Given the description of an element on the screen output the (x, y) to click on. 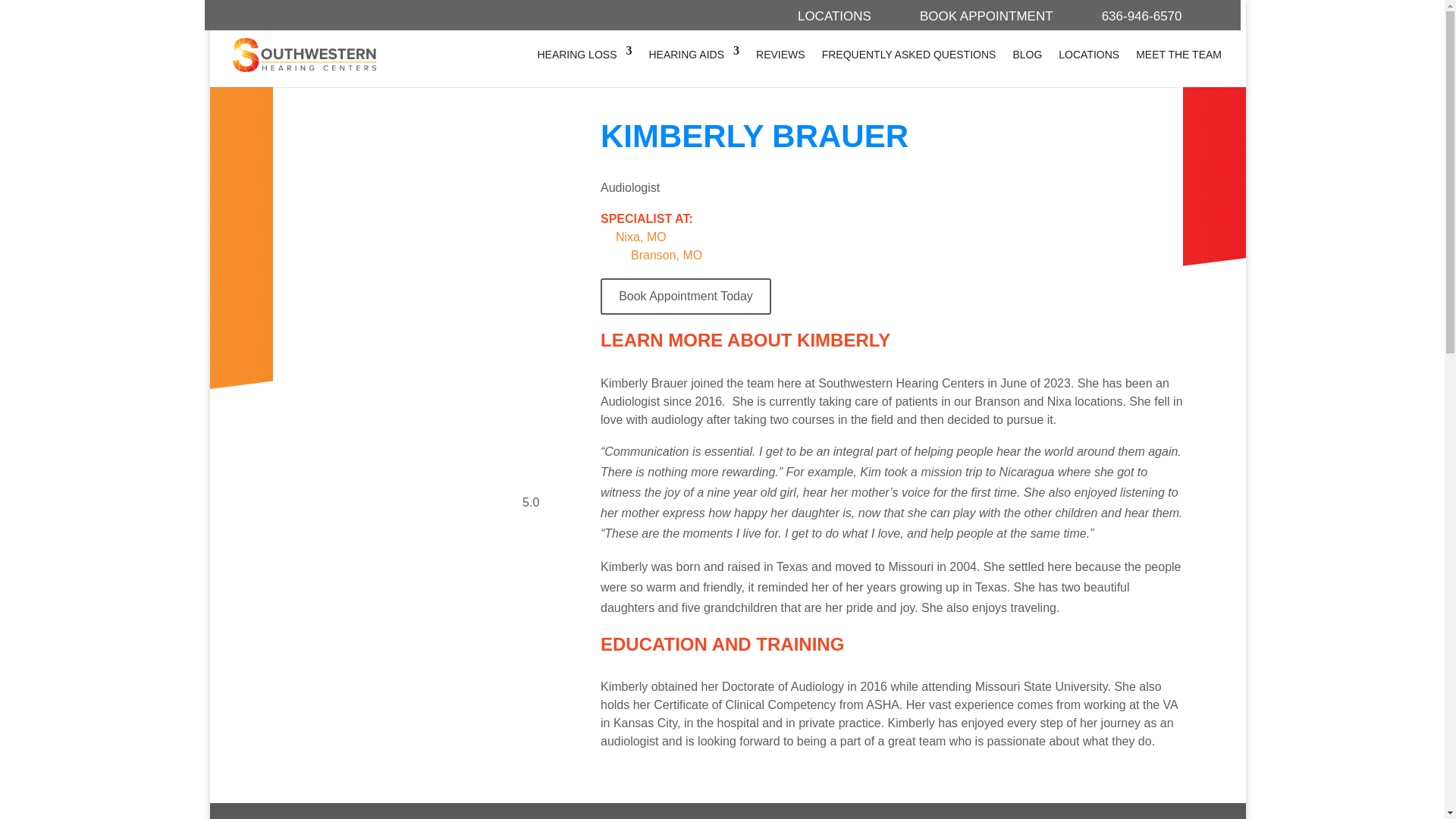
Branson, MO (665, 254)
HEARING AIDS (693, 54)
636-946-6570 (1142, 15)
MEET THE TEAM (1178, 54)
HEARING LOSS (584, 54)
BLOG (1026, 54)
staff-kim-brauer (415, 475)
Nixa, MO (640, 236)
Book Appointment Today (890, 296)
LOCATIONS (833, 15)
FREQUENTLY ASKED QUESTIONS (908, 54)
REVIEWS (780, 54)
BOOK APPOINTMENT (986, 15)
LOCATIONS (1088, 54)
